Given the description of an element on the screen output the (x, y) to click on. 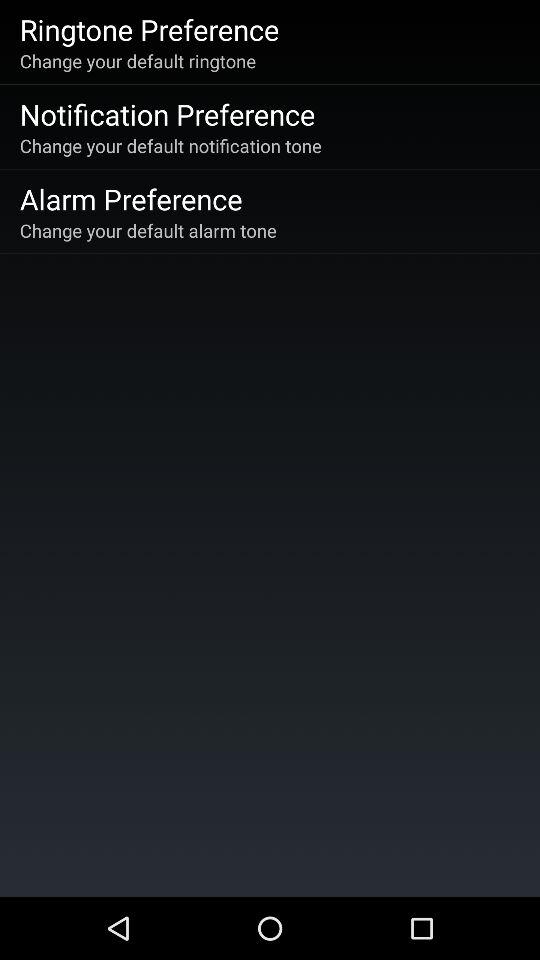
choose alarm preference (130, 198)
